Given the description of an element on the screen output the (x, y) to click on. 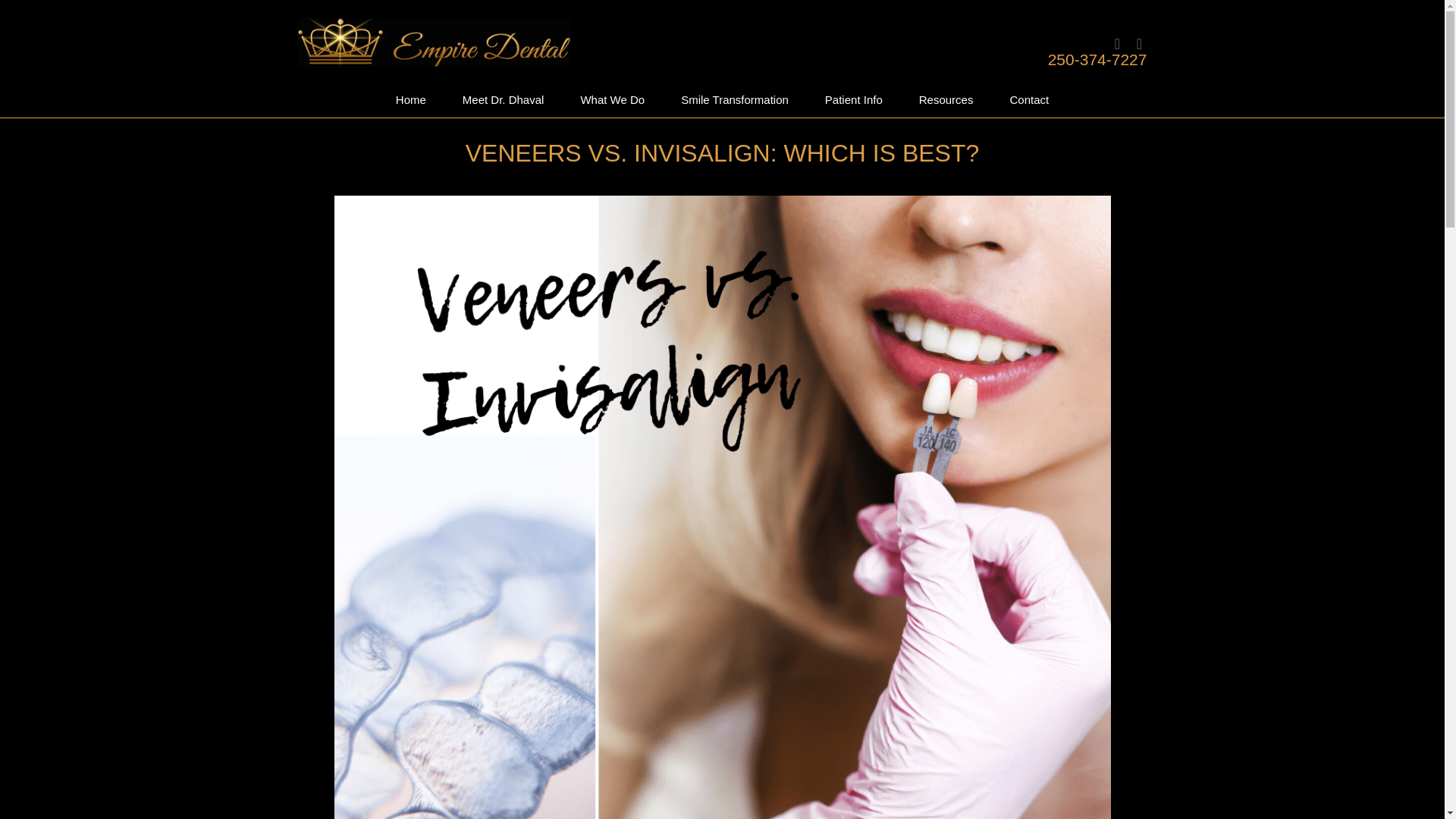
Smile Transformation (734, 99)
Patient Info (853, 99)
Contact (1029, 99)
Meet Dr. Dhaval (503, 99)
What We Do (612, 99)
Resources (946, 99)
250-374-7227 (1097, 58)
Home (410, 99)
